Given the description of an element on the screen output the (x, y) to click on. 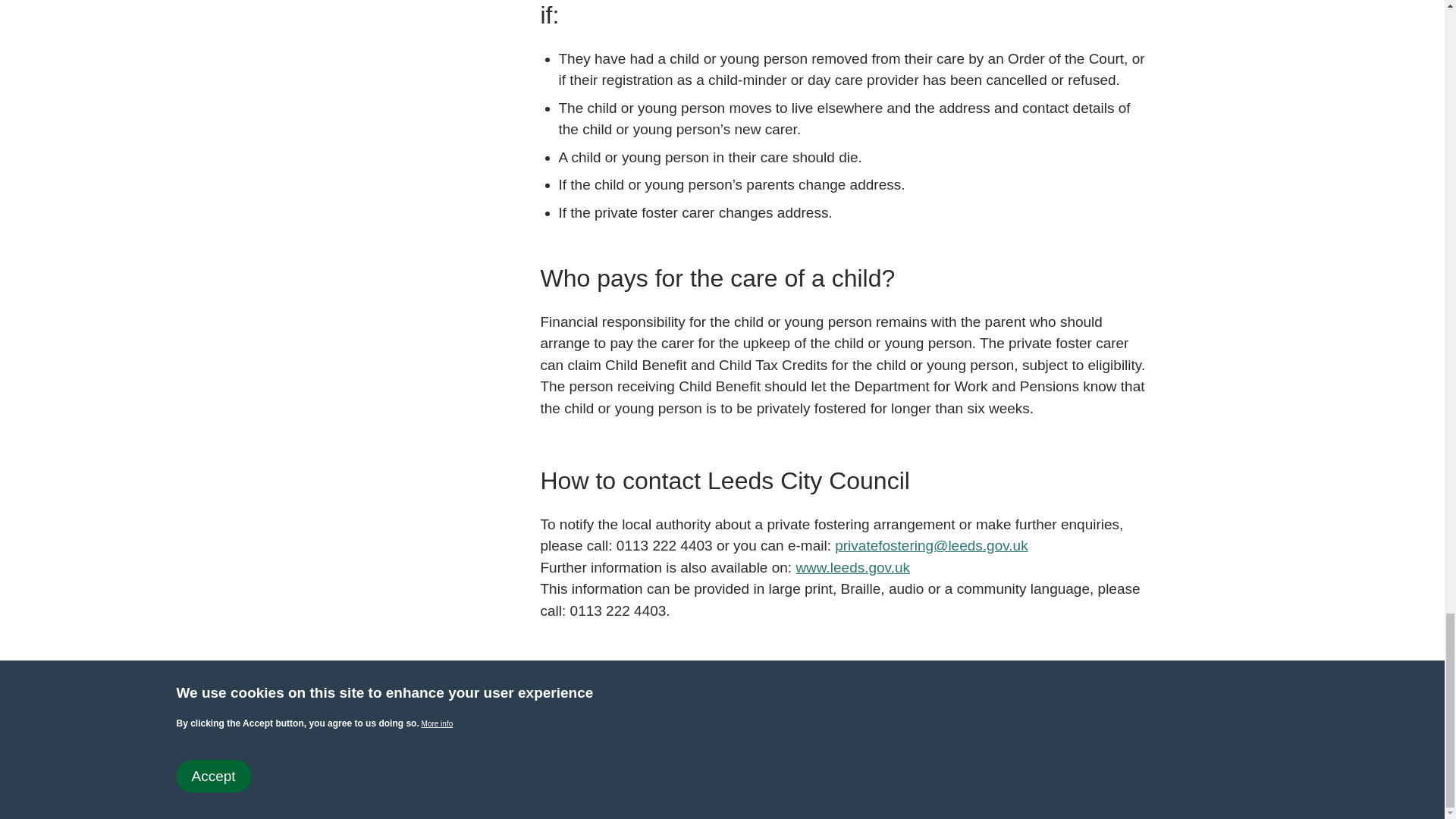
Contact us (287, 758)
youtube (345, 716)
twitter (261, 716)
Accessibility (208, 758)
Privacy and Cookie Policy (401, 758)
www.leeds.gov.uk (852, 568)
facebook (303, 716)
